Given the description of an element on the screen output the (x, y) to click on. 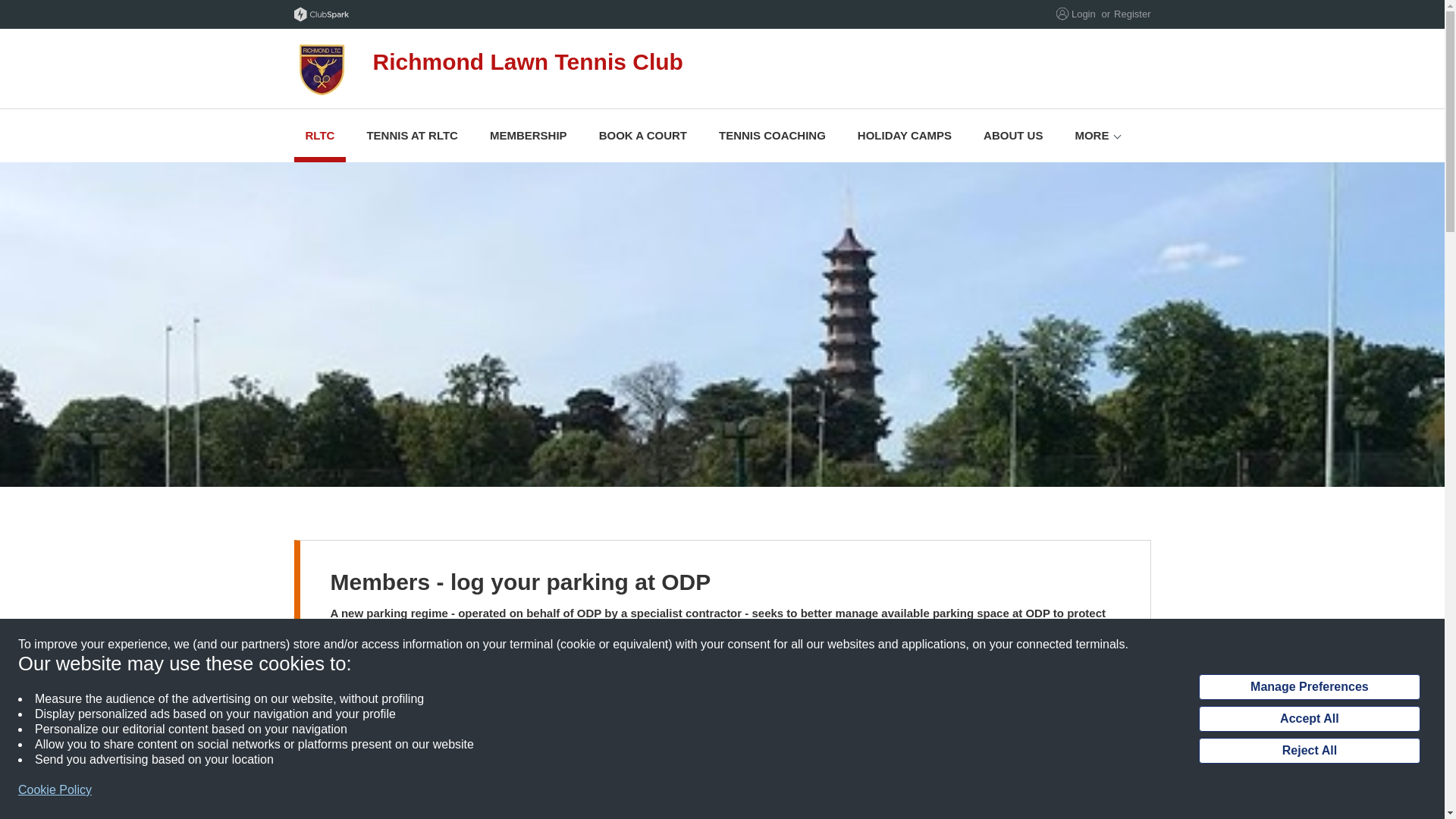
Manage Preferences (1309, 687)
ClubSpark (508, 14)
HOLIDAY CAMPS (903, 135)
TENNIS COACHING (772, 135)
Register (1131, 13)
Accept All (1309, 718)
Read more (358, 709)
RLTC (320, 135)
Richmond Lawn Tennis Club (593, 68)
ABOUT US (1013, 135)
Login (1083, 13)
BOOK A COURT (643, 135)
Reject All (1309, 750)
MEMBERSHIP (528, 135)
MORE (1090, 135)
